Given the description of an element on the screen output the (x, y) to click on. 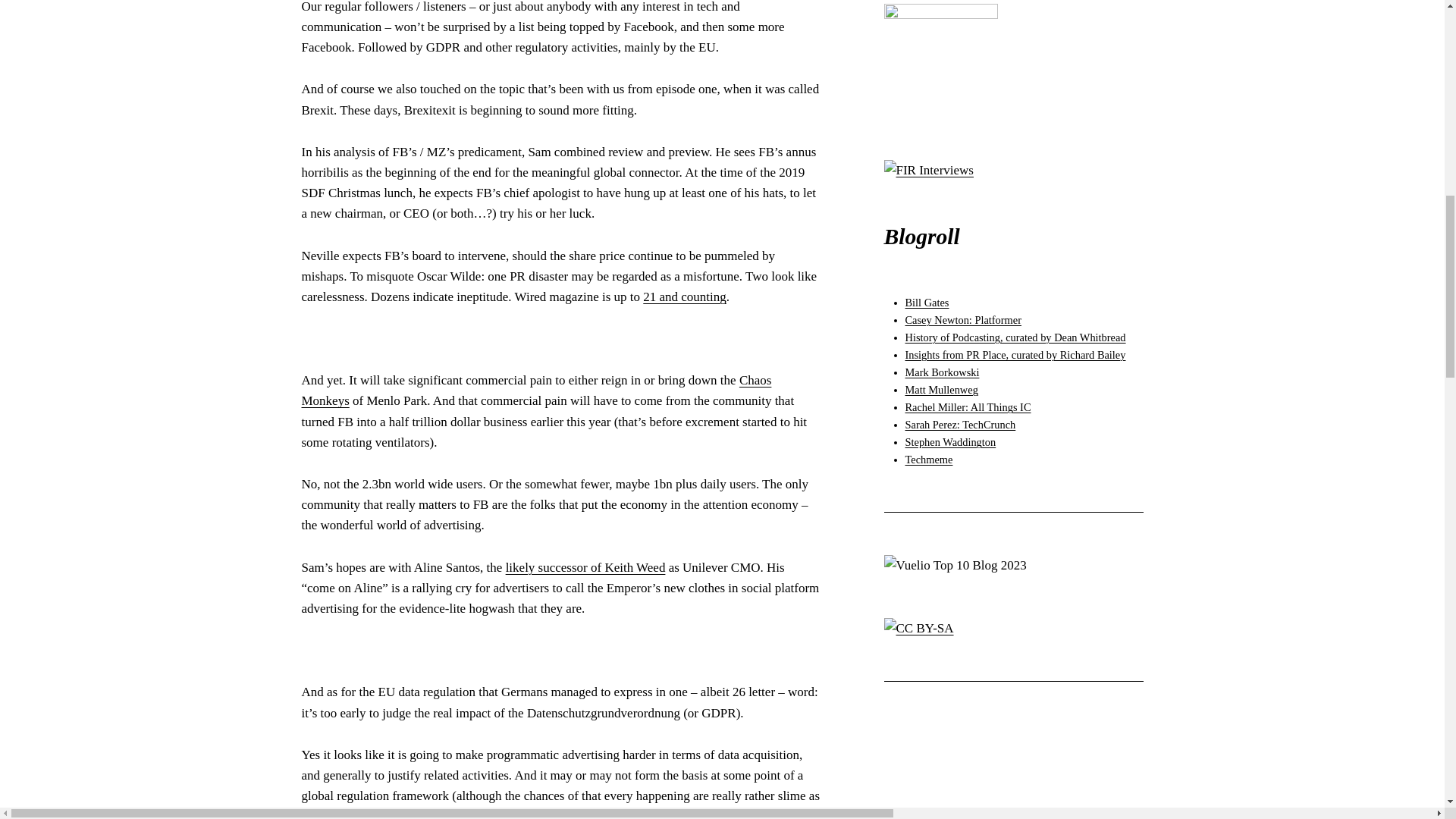
21 and counting (684, 296)
likely successor of Keith Weed (585, 567)
Chaos Monkeys (536, 390)
